Given the description of an element on the screen output the (x, y) to click on. 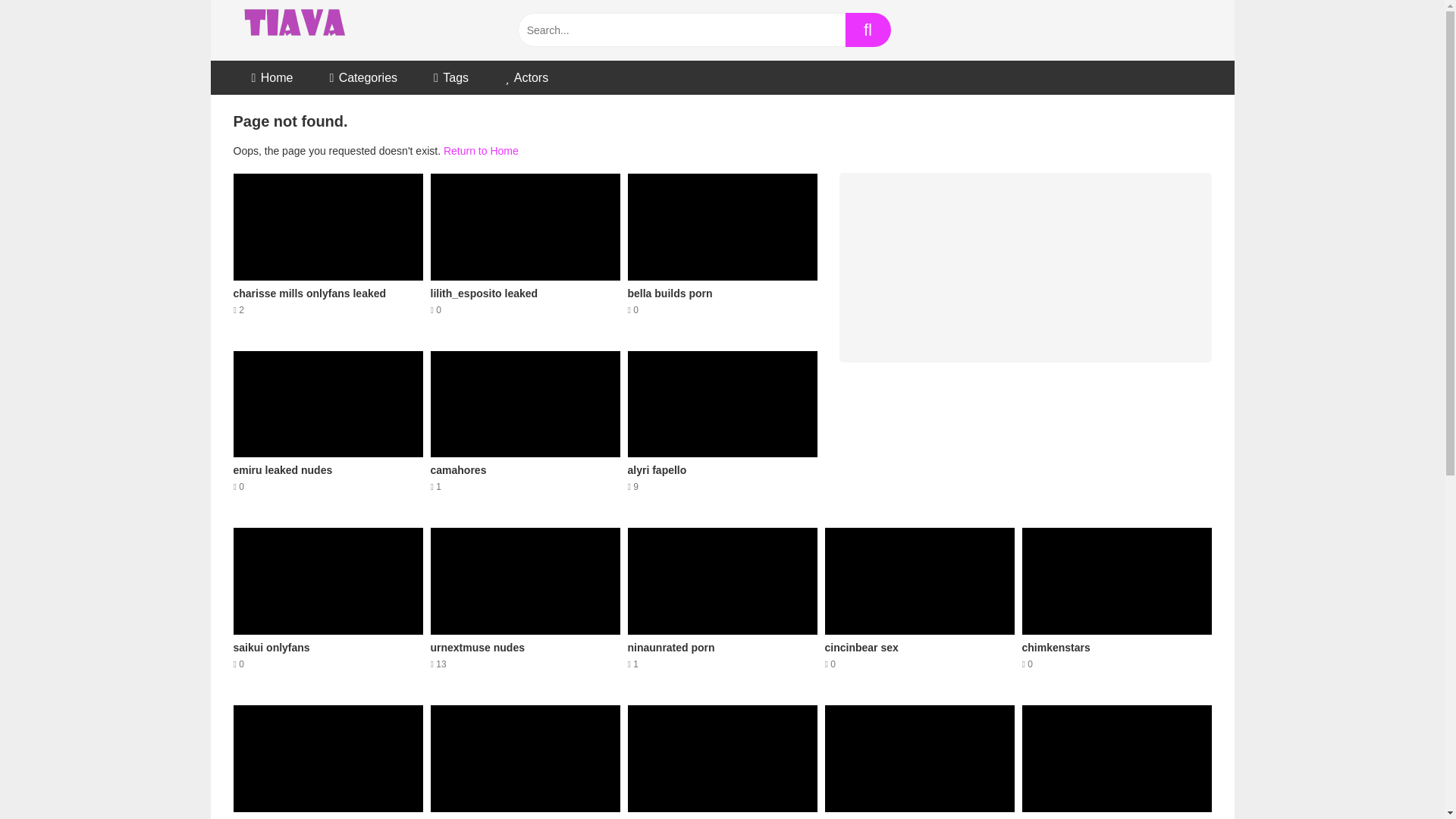
bella builds porn (327, 607)
chimkenstars (721, 253)
Return to Home (1116, 607)
thesublimesoles nude (481, 150)
cincinbear sex (721, 607)
veronica perasso anal (721, 253)
charisse mills onlyfans leaked (525, 762)
videos porn xxx Tiava (919, 607)
ninaunrated porn (721, 762)
saikui onlyfans (327, 253)
emiru leaked nudes (295, 30)
